Given the description of an element on the screen output the (x, y) to click on. 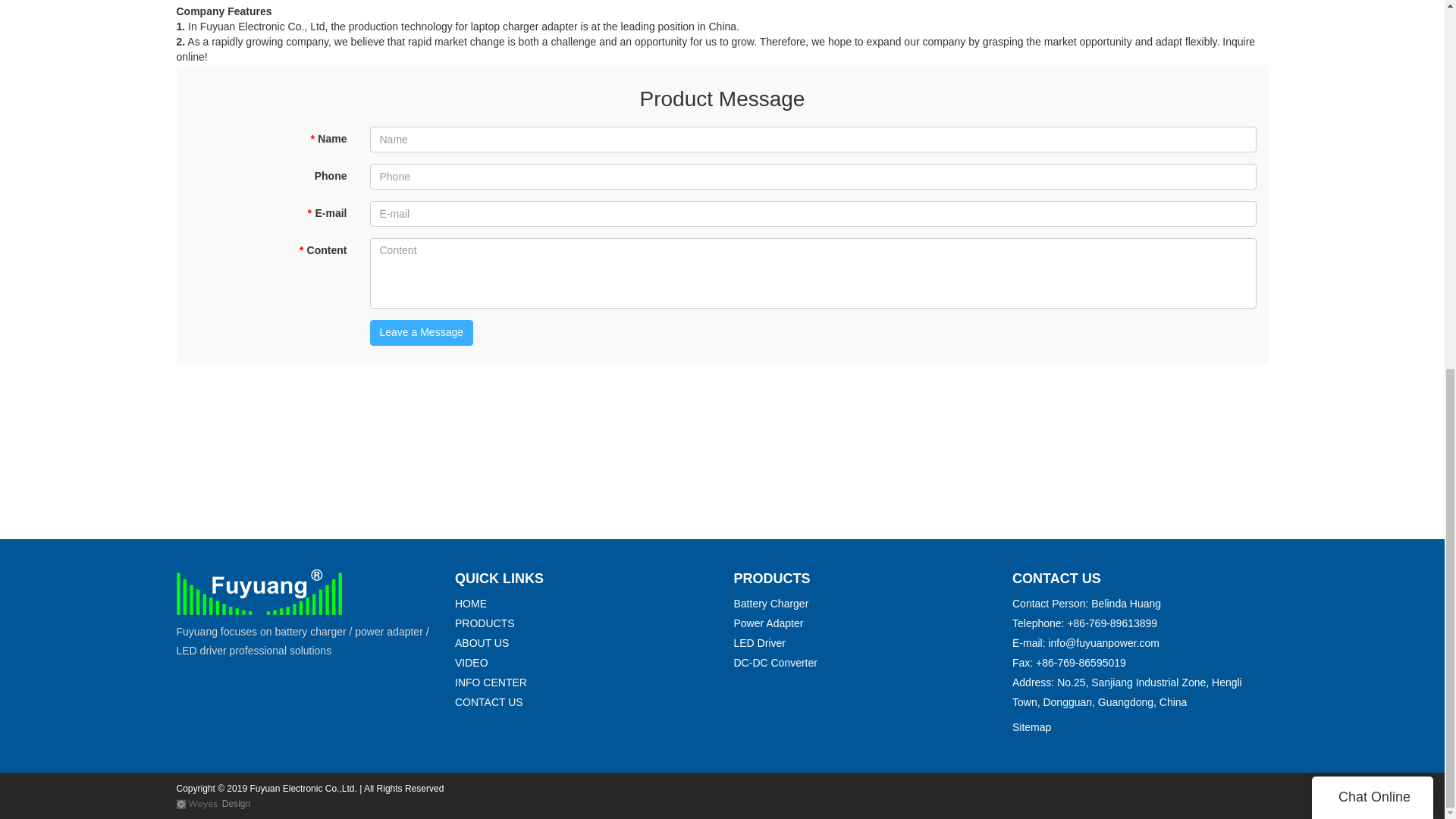
PRODUCTS (484, 623)
Leave a Message (421, 332)
ABOUT US (481, 643)
HOME (470, 603)
